Given the description of an element on the screen output the (x, y) to click on. 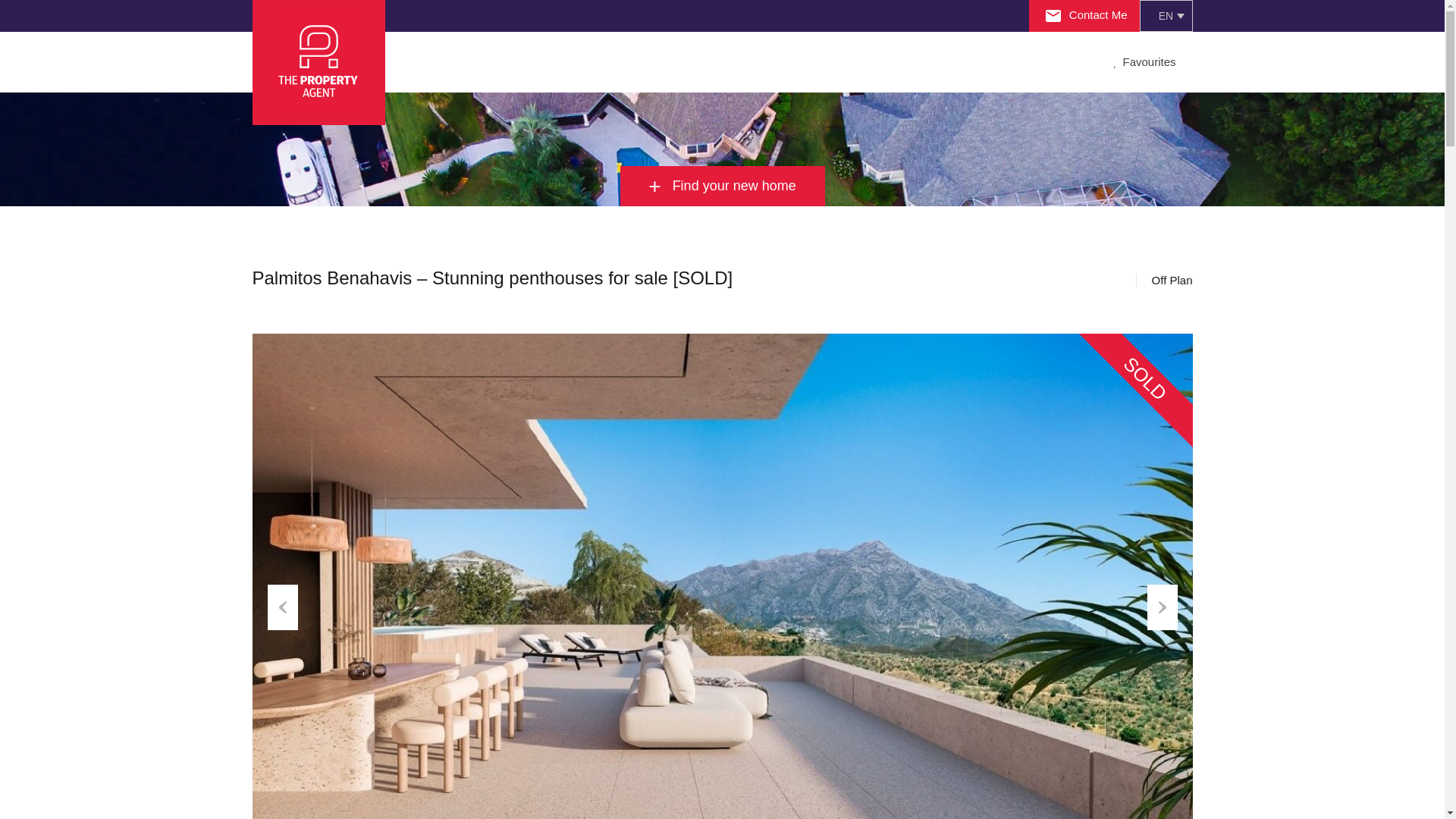
Area Guides (606, 62)
Home (424, 62)
Quick Links (694, 62)
Get in touch! (882, 62)
Why Choose Me (507, 62)
Costa del Sol Area Guides (606, 62)
EN (1165, 15)
Contact Me (1085, 14)
About Celeste aka The Property Agent (507, 62)
